Given the description of an element on the screen output the (x, y) to click on. 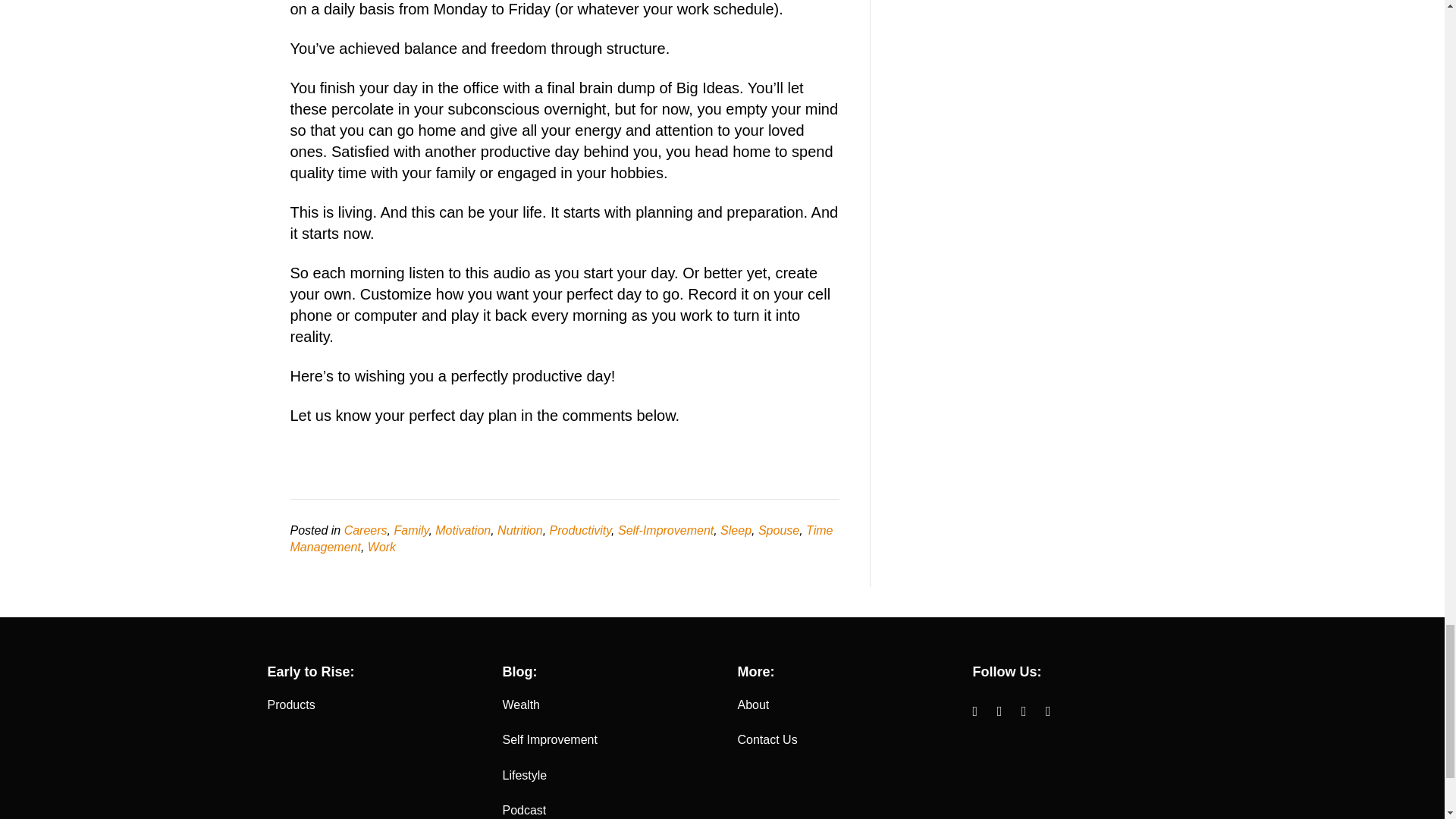
Spouse (778, 530)
Careers (365, 530)
Contact Us (766, 739)
Self Improvement (549, 739)
Motivation (462, 530)
Time Management (560, 538)
Podcast (524, 809)
Nutrition (520, 530)
Self-Improvement (665, 530)
Products (290, 704)
Wealth (521, 704)
Sleep (735, 530)
Productivity (580, 530)
Family (410, 530)
Work (382, 546)
